Given the description of an element on the screen output the (x, y) to click on. 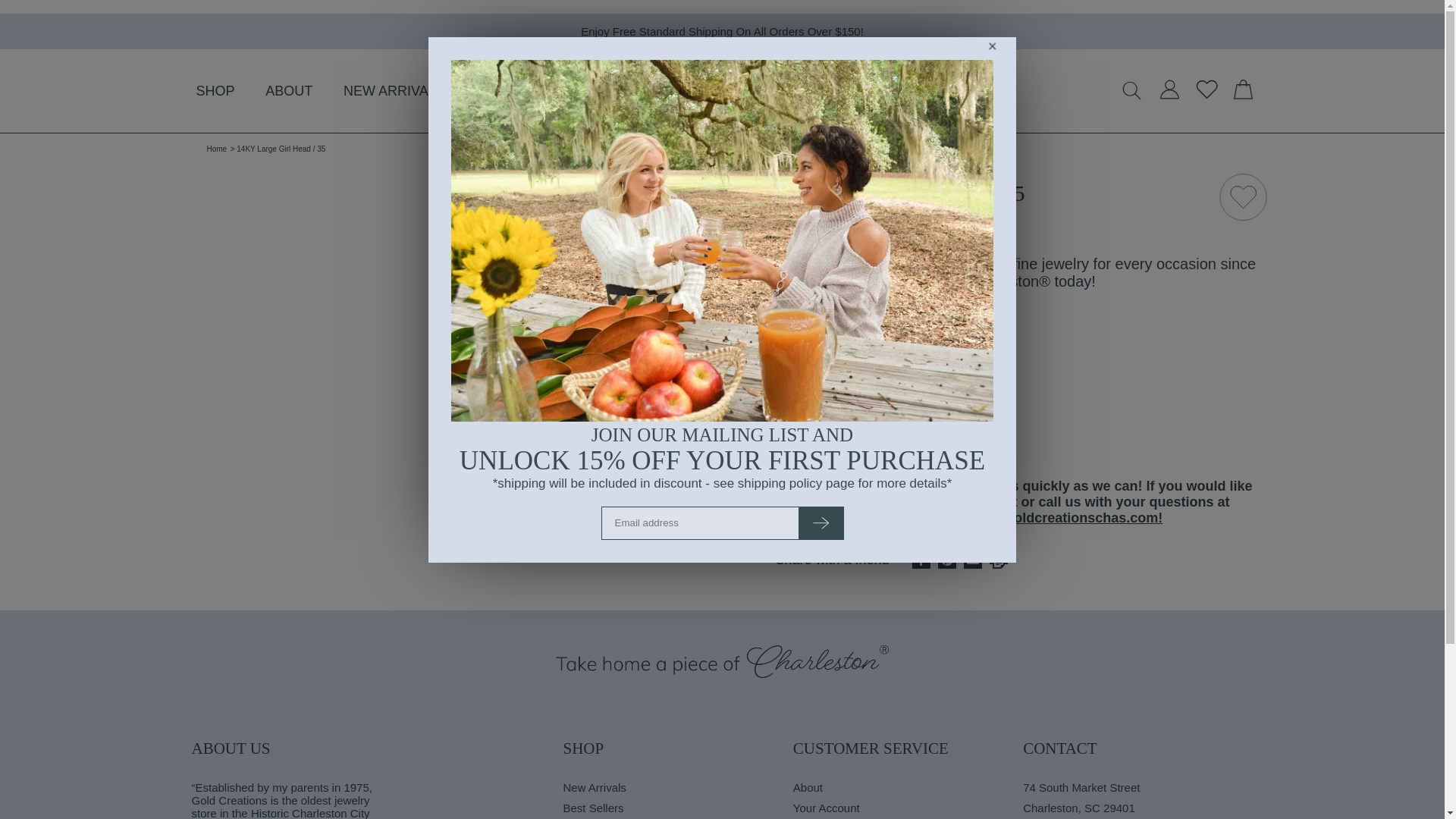
SHOP (214, 90)
My account (1168, 96)
Best Sellers (677, 810)
contact (507, 90)
New Arrivals (677, 791)
logo (722, 90)
new arrivals (394, 90)
Home (216, 148)
1 (844, 359)
